Given the description of an element on the screen output the (x, y) to click on. 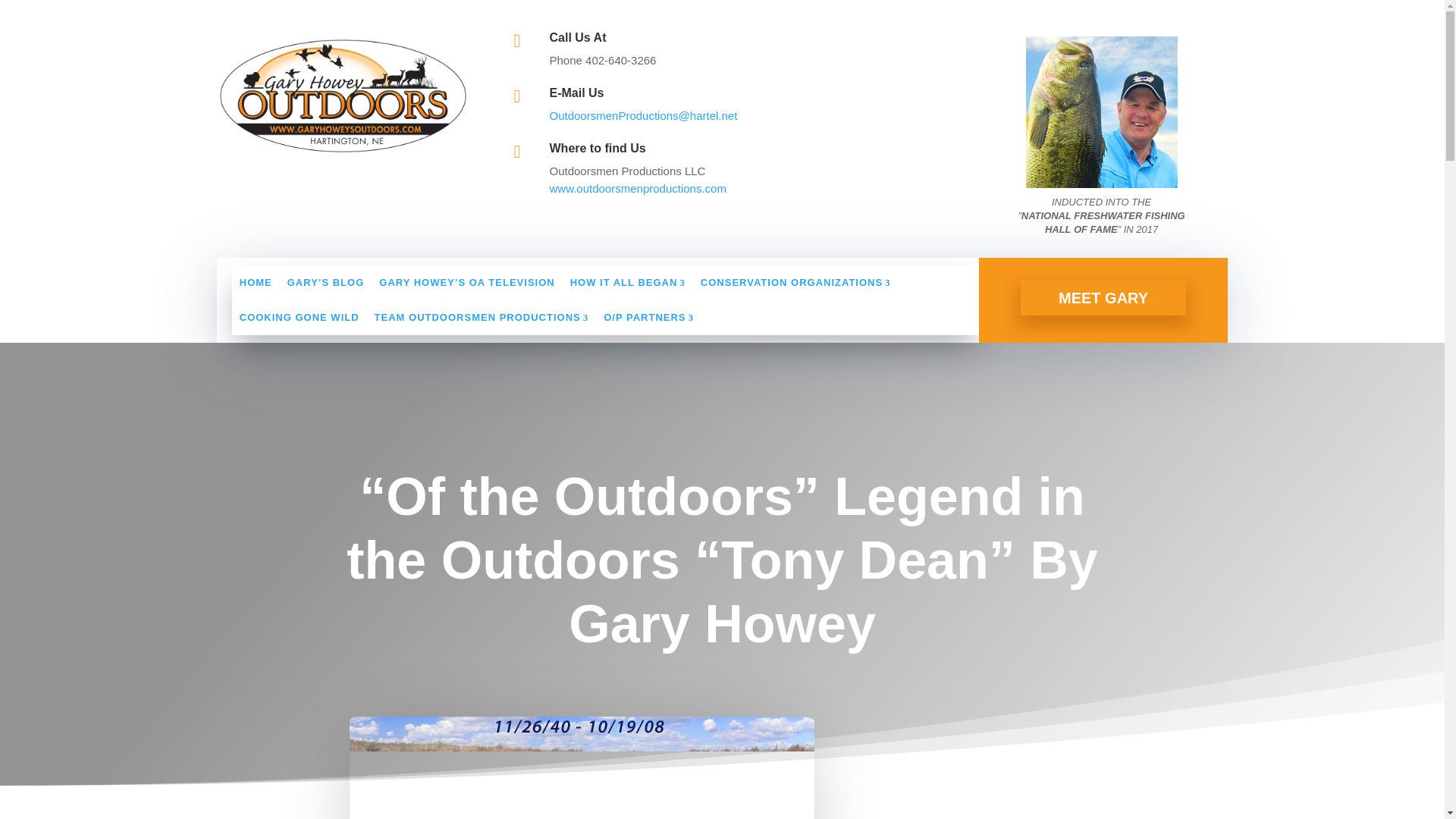
CONSERVATION ORGANIZATIONS (795, 282)
MEET GARY (1103, 297)
HOW IT ALL BEGAN (627, 282)
Pic-Tony-Dean 1 (581, 767)
HOME (255, 282)
COOKING GONE WILD (298, 317)
Gary-LM-Bass-sq (1101, 112)
www.outdoorsmenproductions.com (636, 187)
TEAM OUTDOORSMEN PRODUCTIONS (481, 317)
